Given the description of an element on the screen output the (x, y) to click on. 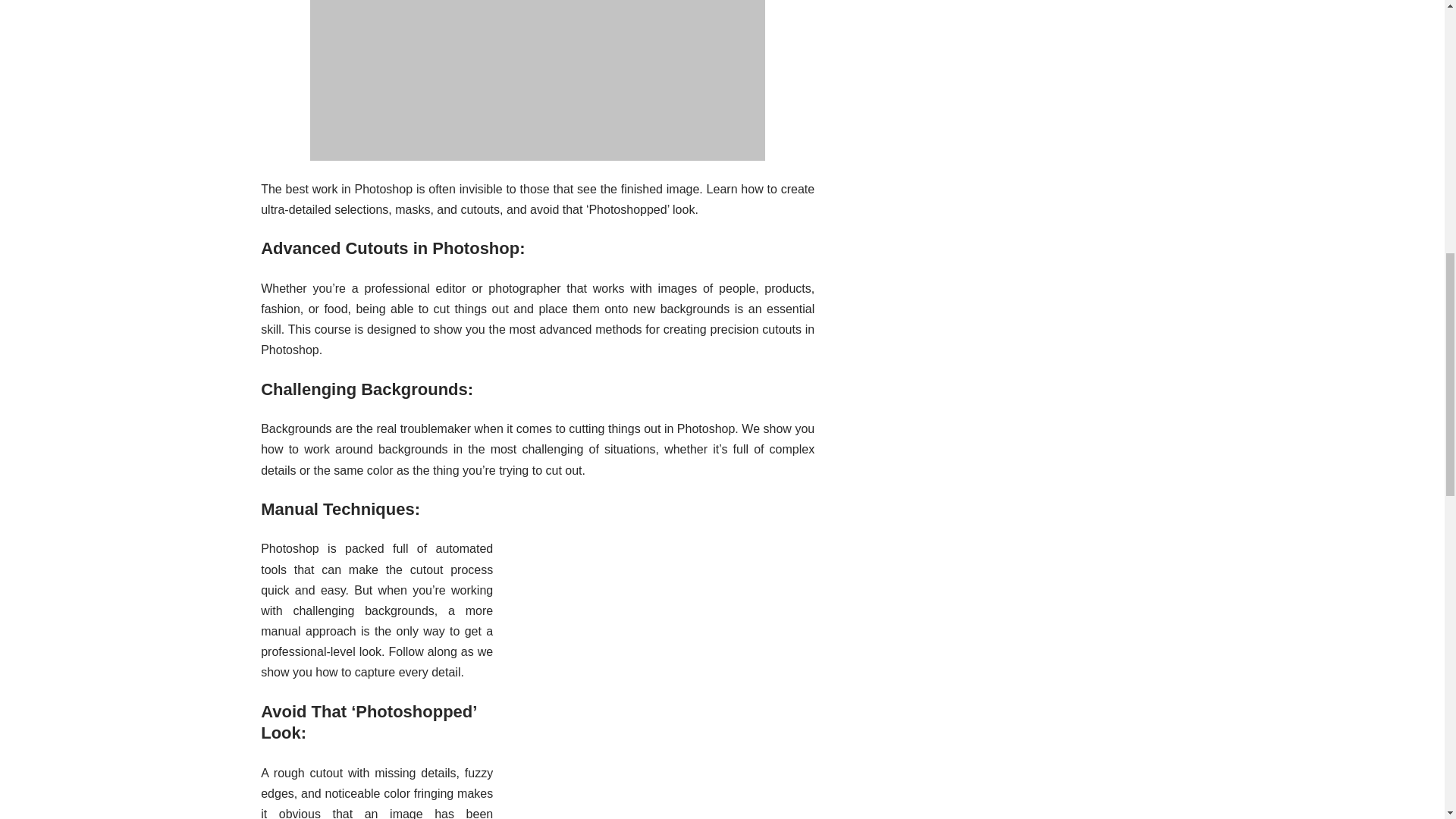
Challenging Background Cutout in photoshop (662, 665)
Advanced Cutouts in Photoshop (537, 80)
